Given the description of an element on the screen output the (x, y) to click on. 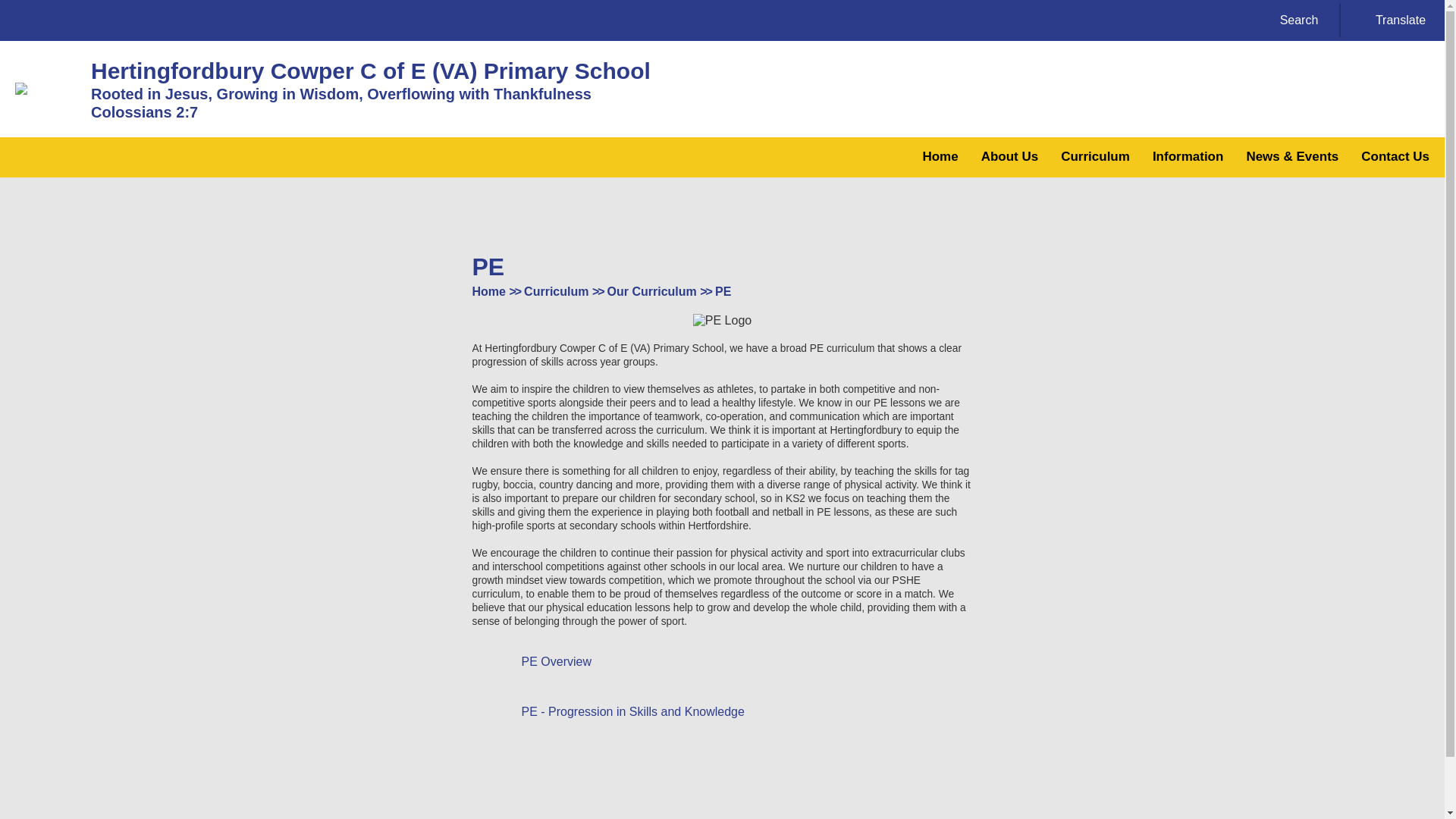
Curriculum (1095, 157)
Home Page (44, 88)
Translate (1390, 20)
Search (1289, 20)
About Us (1010, 157)
